Given the description of an element on the screen output the (x, y) to click on. 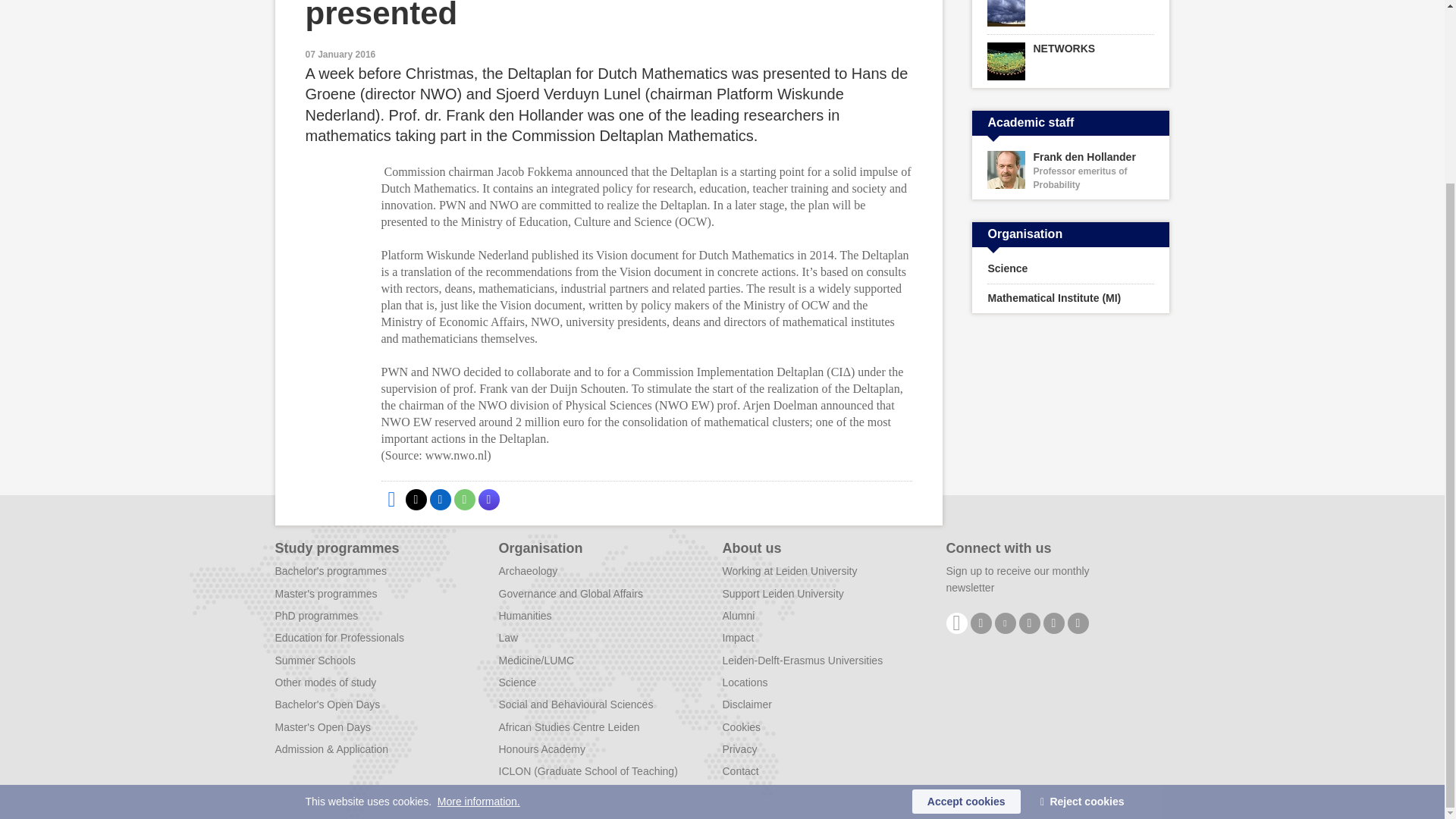
Share on LinkedIn (439, 499)
Share by Mastodon (488, 499)
Share by WhatsApp (463, 499)
Share on X (415, 499)
Share on Facebook (390, 499)
